Given the description of an element on the screen output the (x, y) to click on. 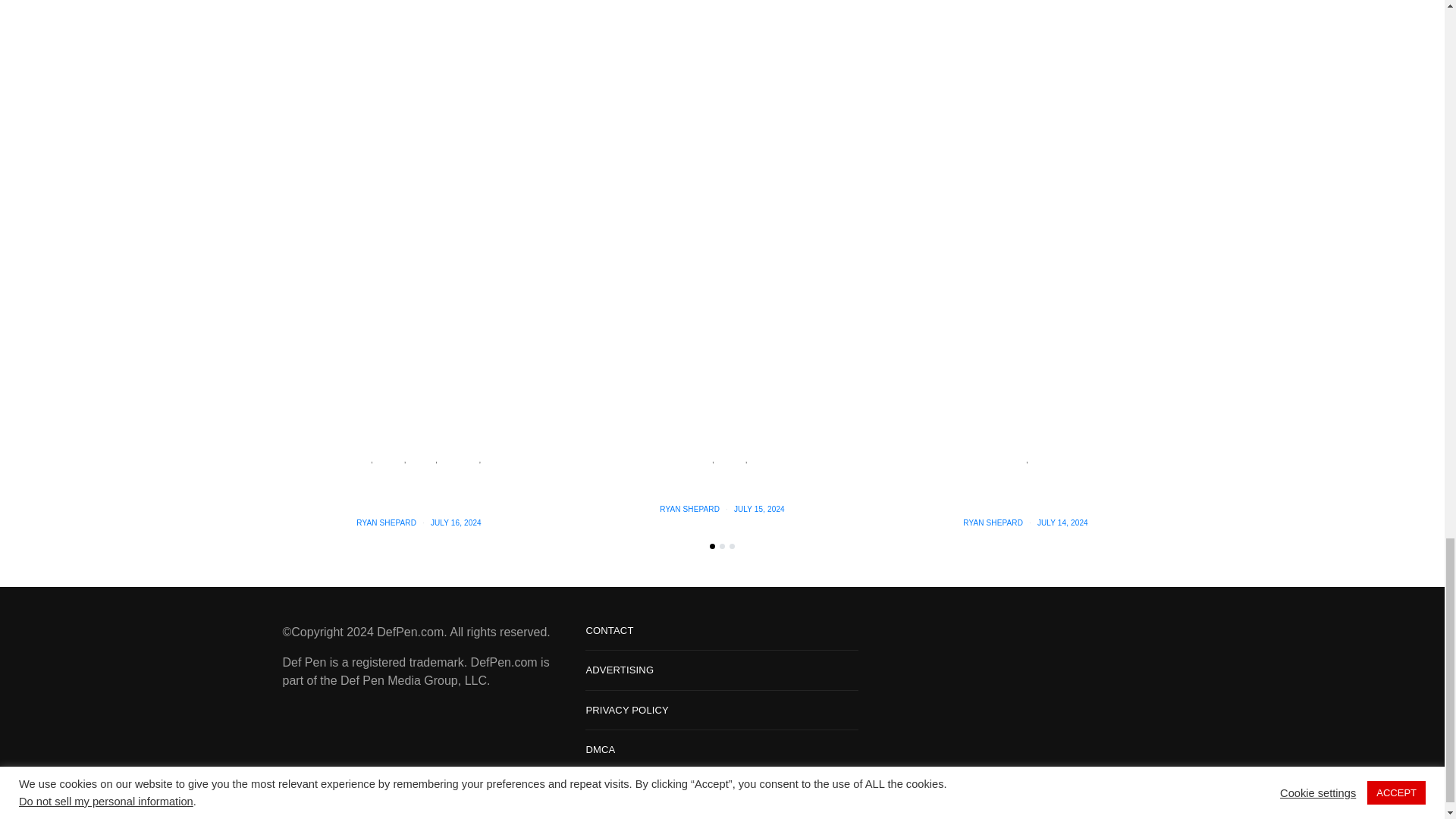
View all posts by Ryan Shepard (689, 509)
View all posts by Ryan Shepard (992, 522)
View all posts by Ryan Shepard (386, 522)
